Given the description of an element on the screen output the (x, y) to click on. 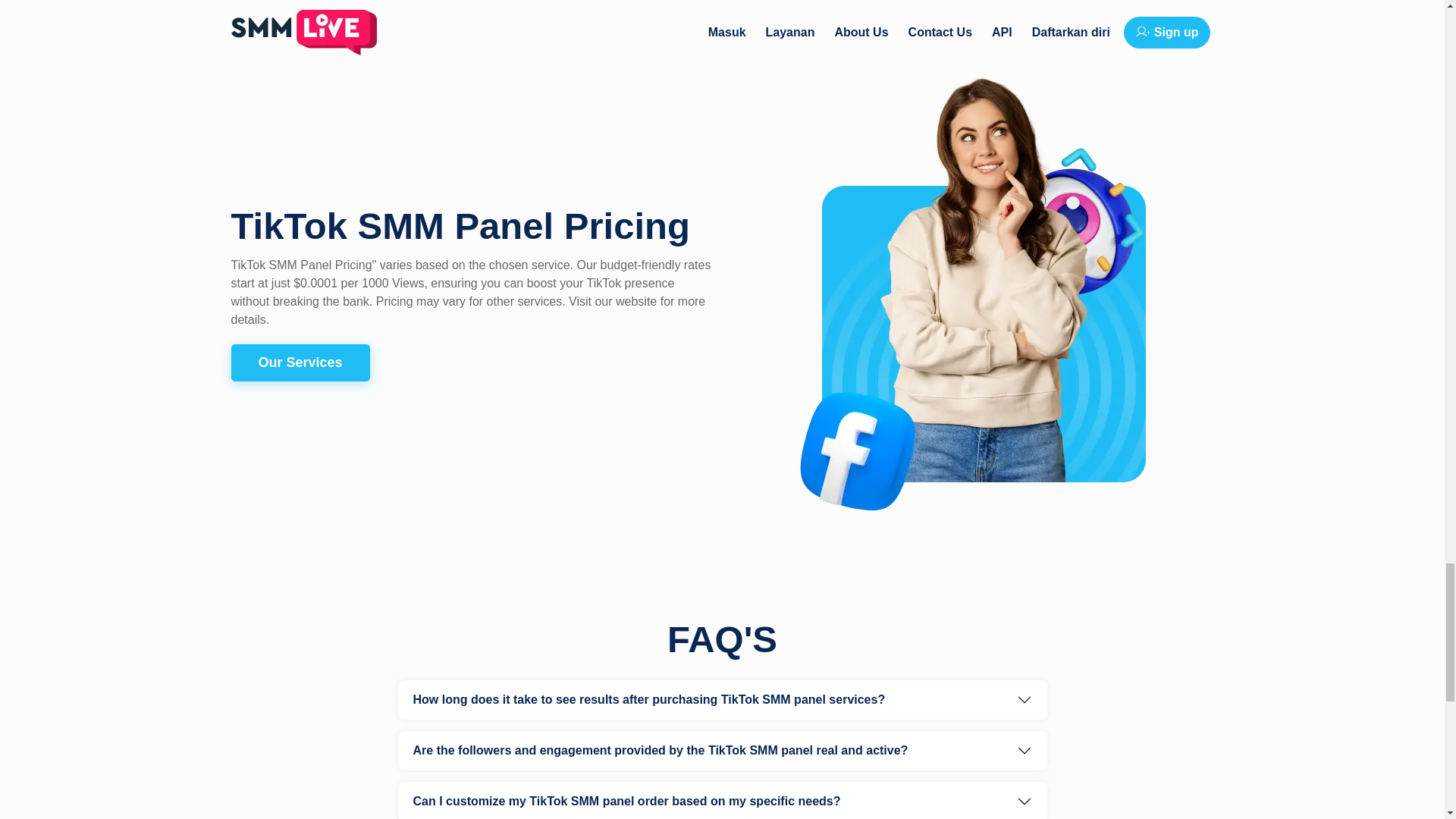
Our Services (299, 362)
